Given the description of an element on the screen output the (x, y) to click on. 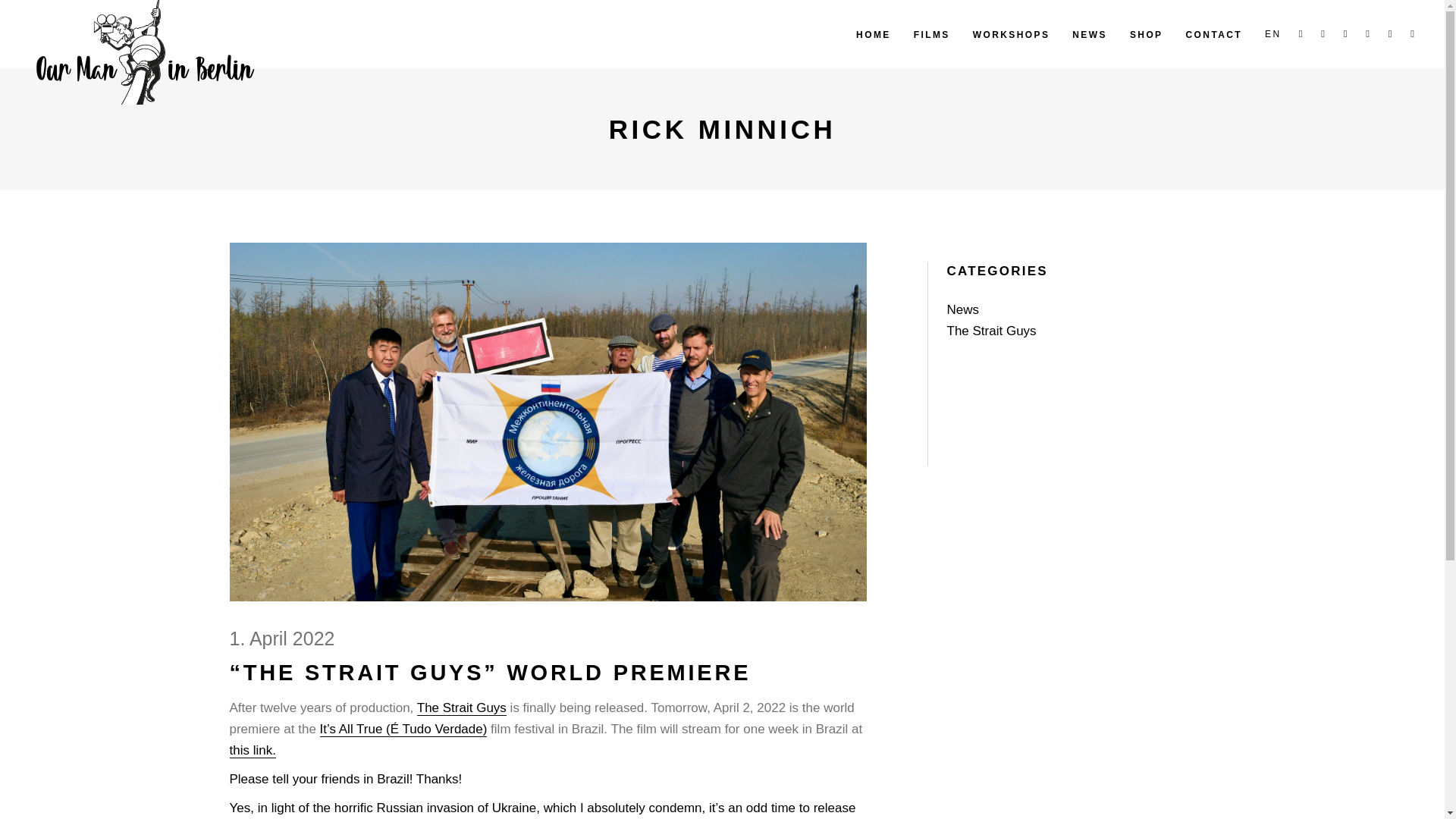
The Strait Guys (461, 708)
CONTACT (1213, 33)
The Strait Guys (990, 330)
News (962, 309)
this link. (251, 750)
1. April 2022 (281, 638)
WORKSHOPS (1010, 33)
